Given the description of an element on the screen output the (x, y) to click on. 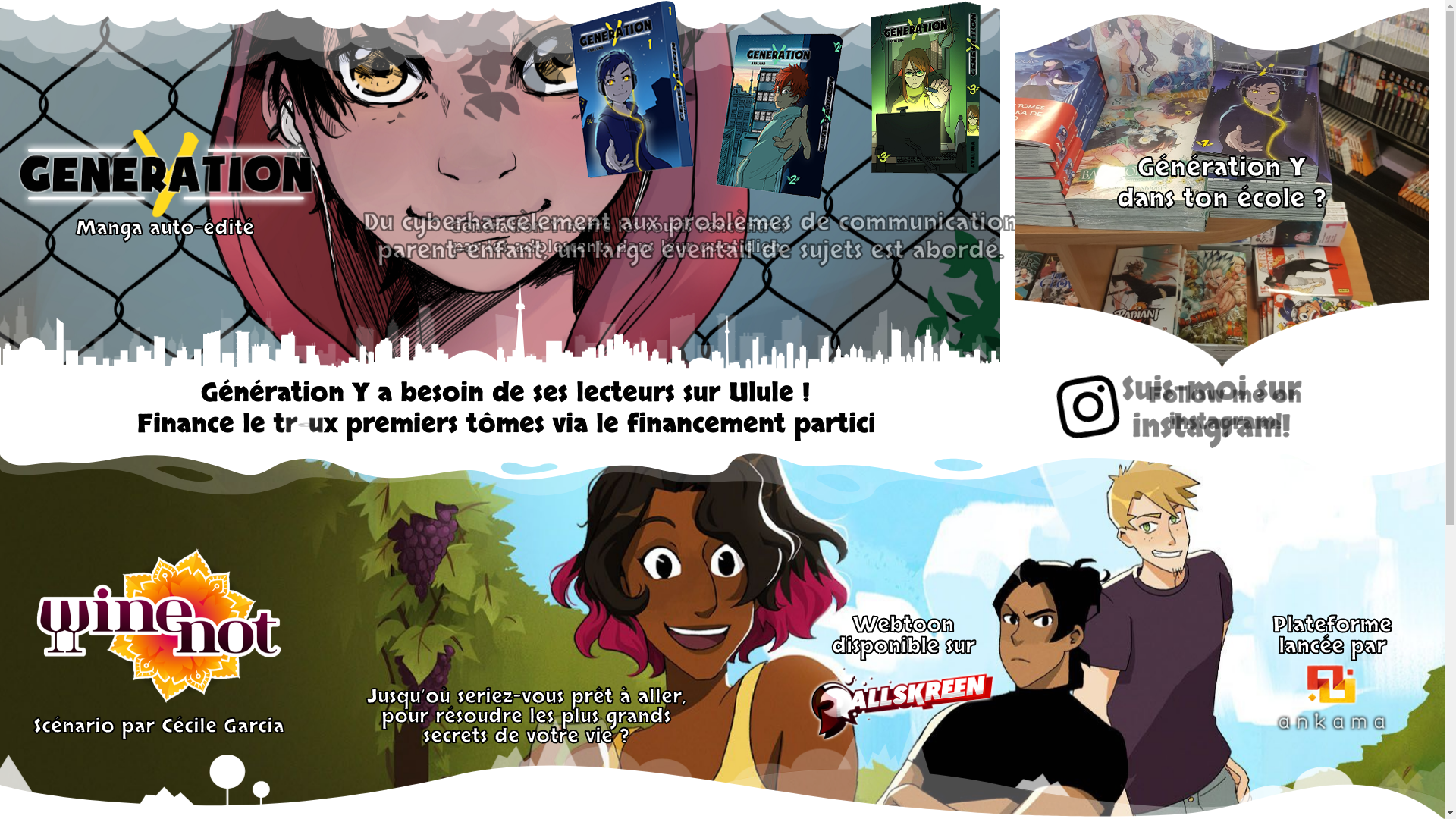
Suis-moi sur
instagram!
Follow me on
instagram! Element type: text (1219, 409)
